Given the description of an element on the screen output the (x, y) to click on. 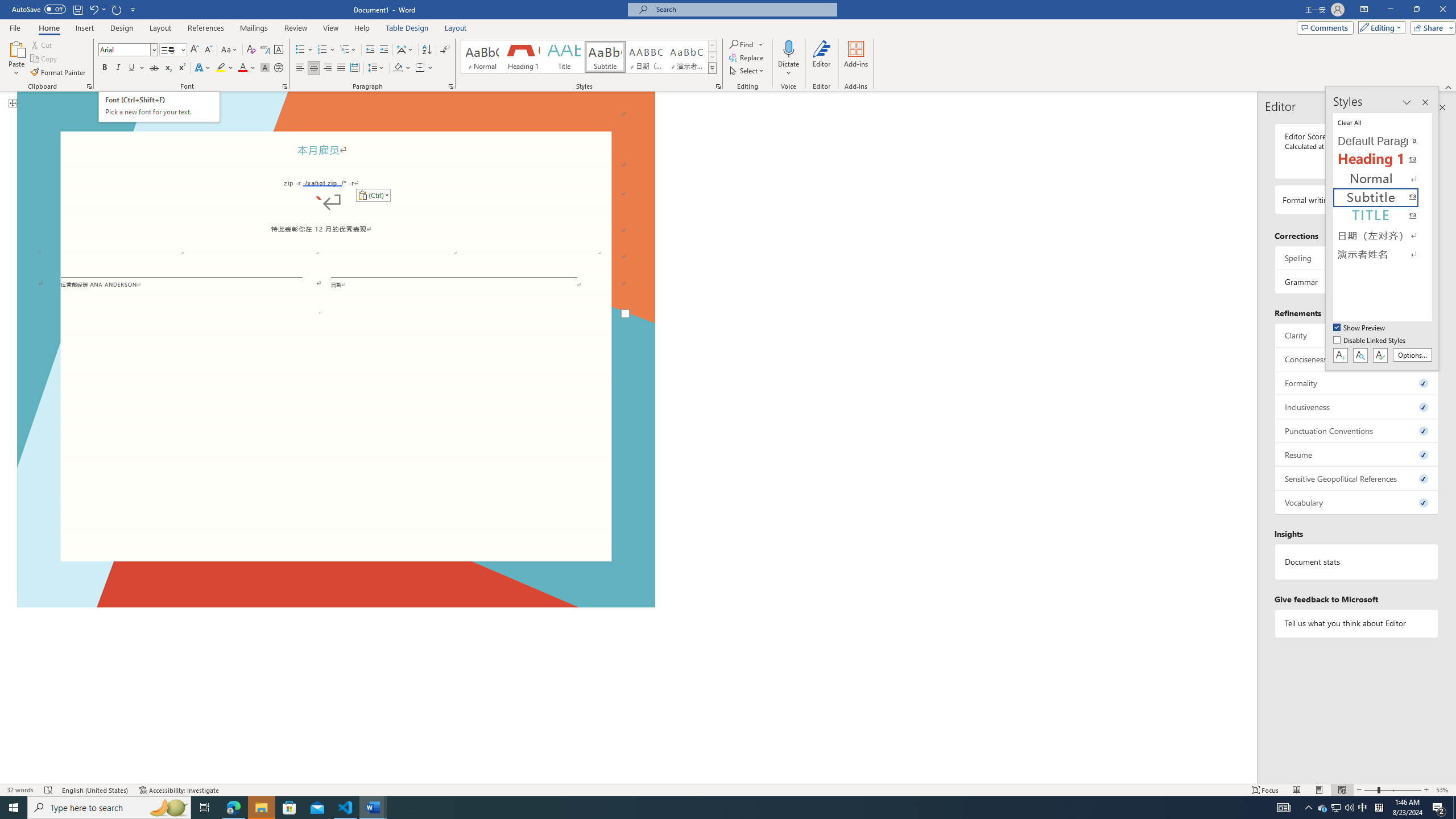
Class: NetUIButton (1380, 355)
Conciseness, 0 issues. Press space or enter to review items. (1356, 359)
Document statistics (1356, 561)
